Given the description of an element on the screen output the (x, y) to click on. 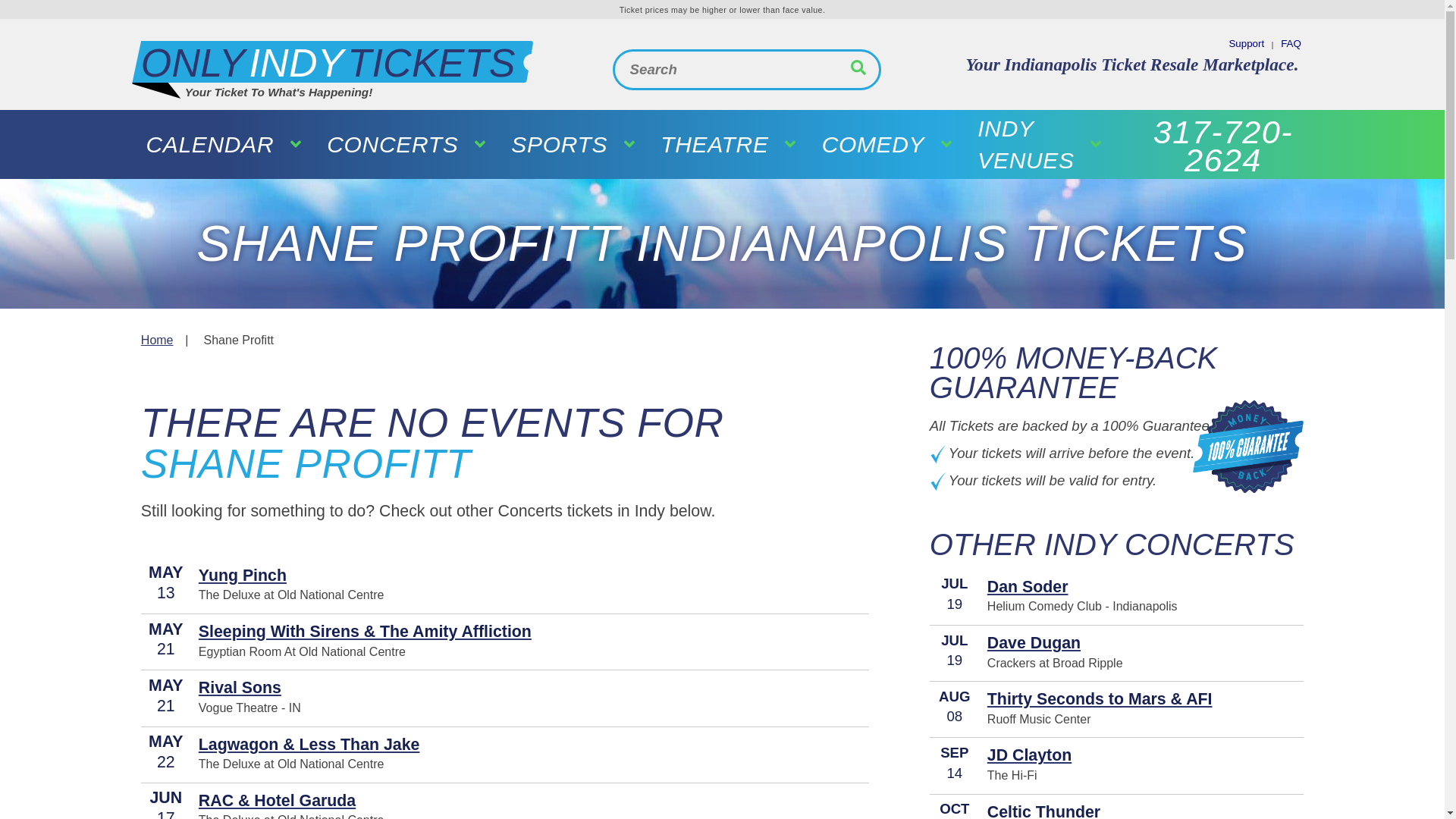
Search Website (858, 69)
Only Indy Tickets Home (331, 61)
Support (1245, 43)
FAQ (331, 61)
CALENDAR (1291, 43)
